Given the description of an element on the screen output the (x, y) to click on. 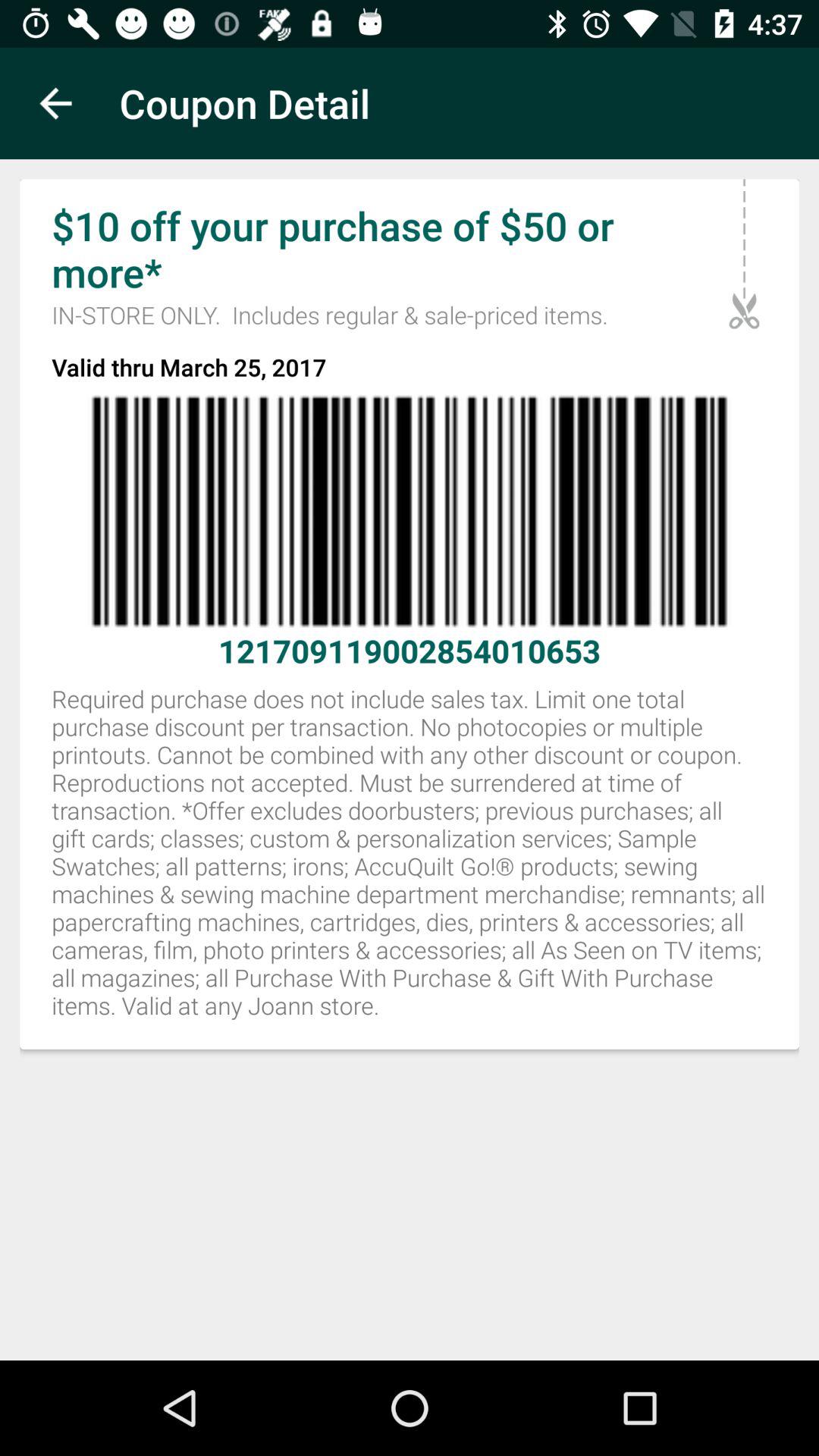
launch item above the 10 off your item (55, 103)
